Given the description of an element on the screen output the (x, y) to click on. 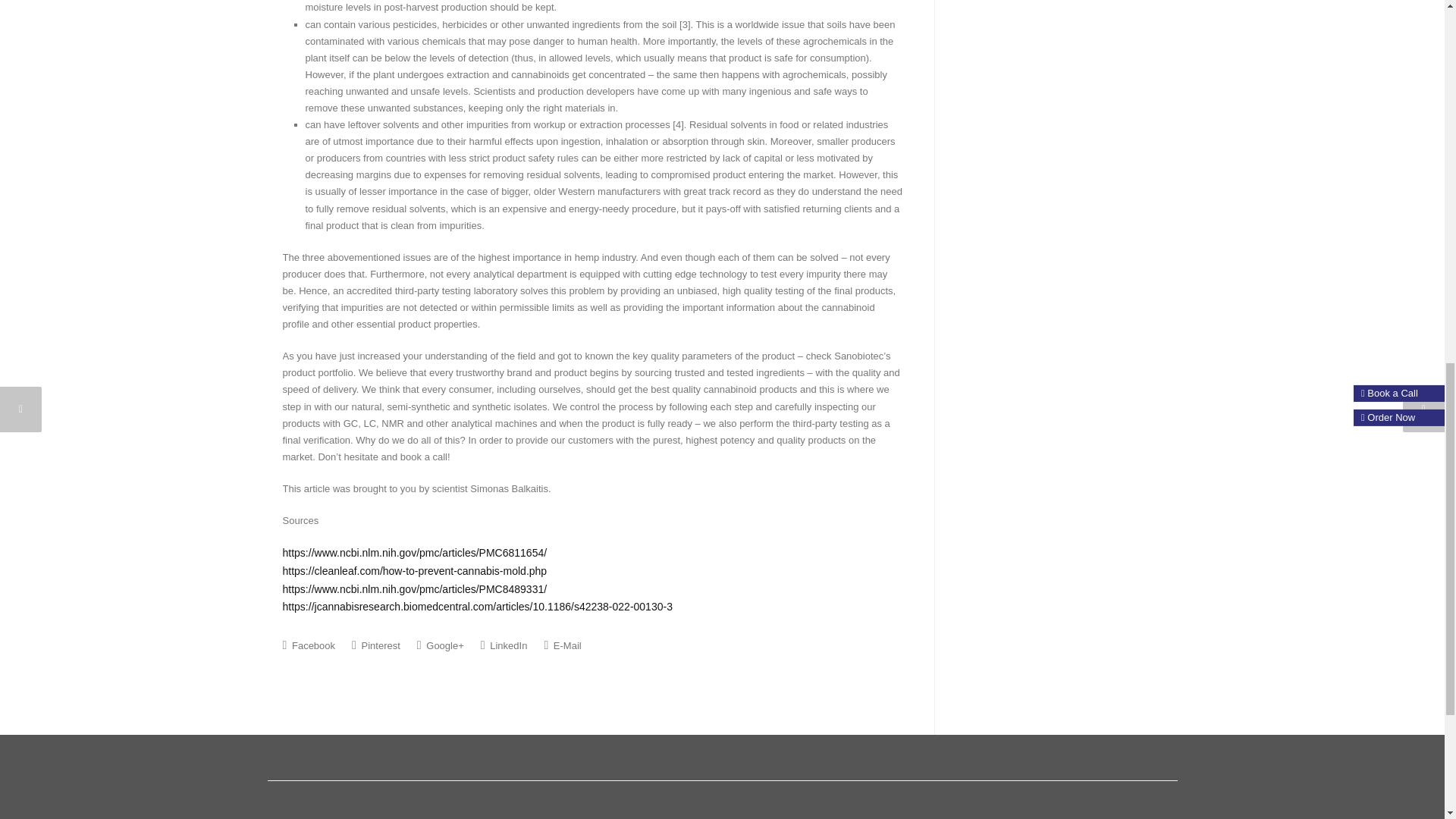
Share via Pinterest (376, 645)
Share via E-Mail (561, 645)
Share via LinkedIn (503, 645)
Share via Facebook (308, 645)
